Given the description of an element on the screen output the (x, y) to click on. 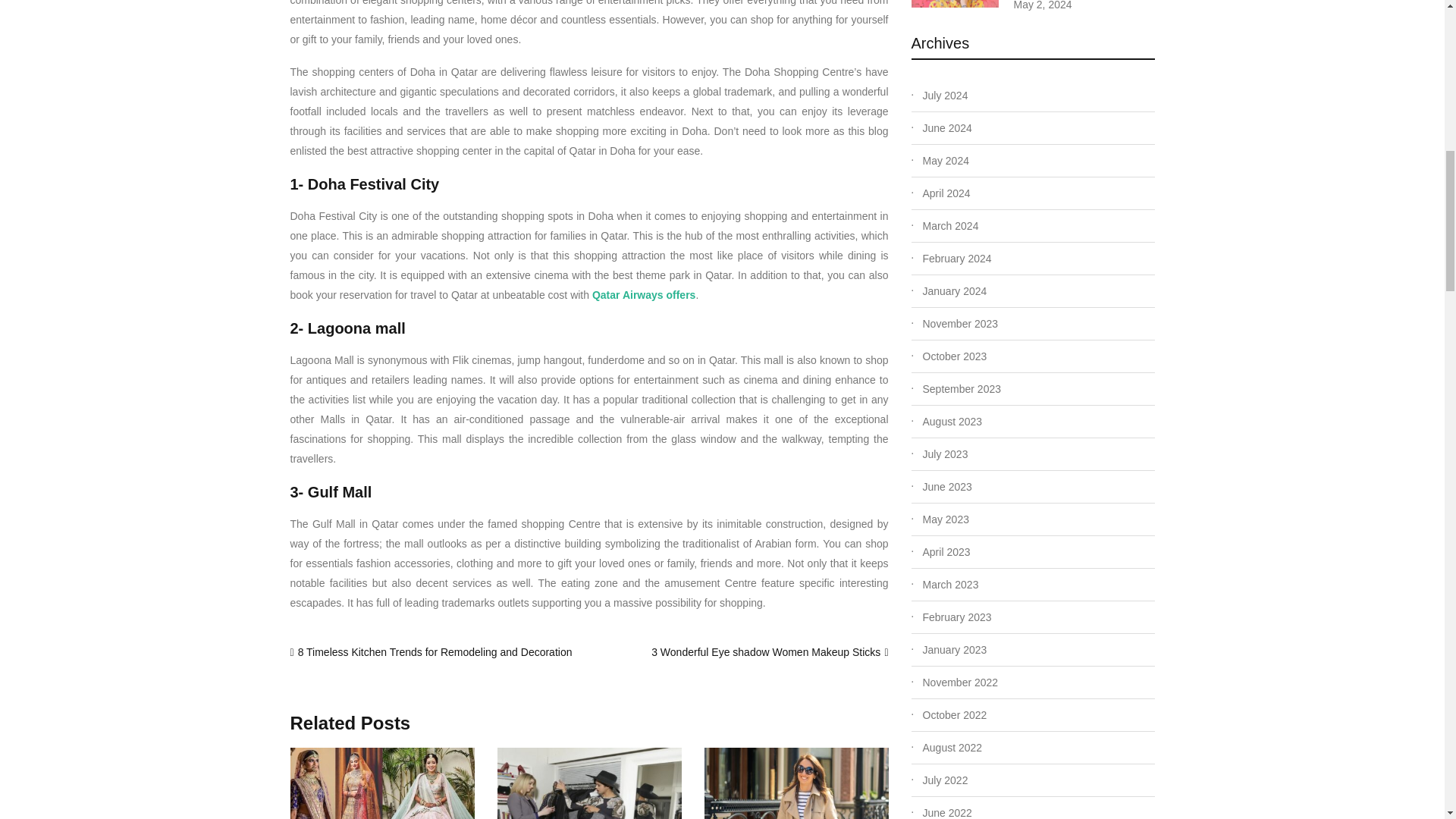
3 Wonderful Eye shadow Women Makeup Sticks (765, 652)
Qatar Airways offers (643, 295)
8 Timeless Kitchen Trends for Remodeling and Decoration (435, 652)
